Given the description of an element on the screen output the (x, y) to click on. 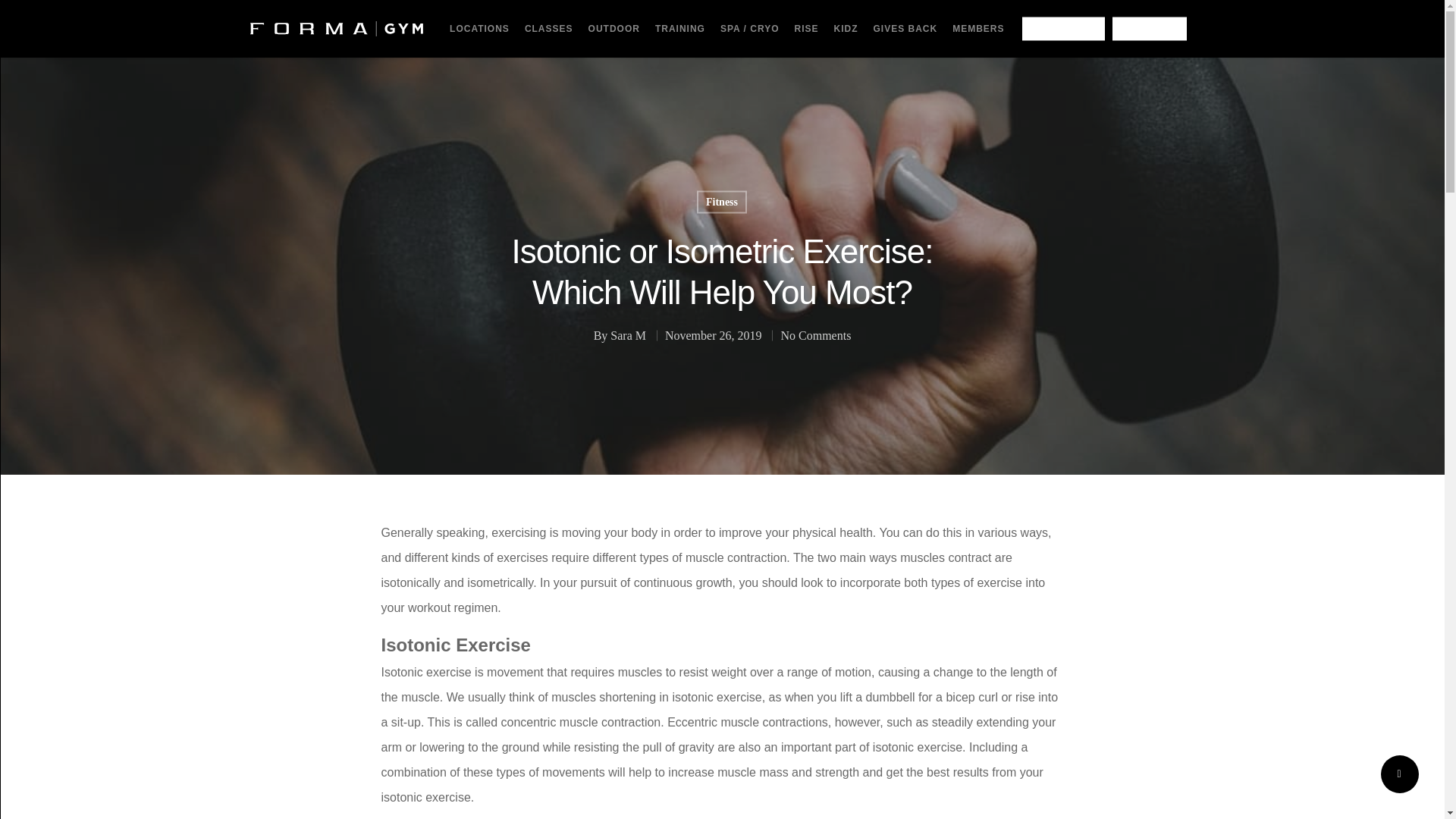
Posts by Sara M (628, 335)
KIDZ (846, 28)
RISE (805, 28)
OUTDOOR (613, 28)
TRAINING (680, 28)
GIVES BACK (905, 28)
CLASSES (548, 28)
MEMBERS (977, 28)
LOCATIONS (479, 28)
